Given the description of an element on the screen output the (x, y) to click on. 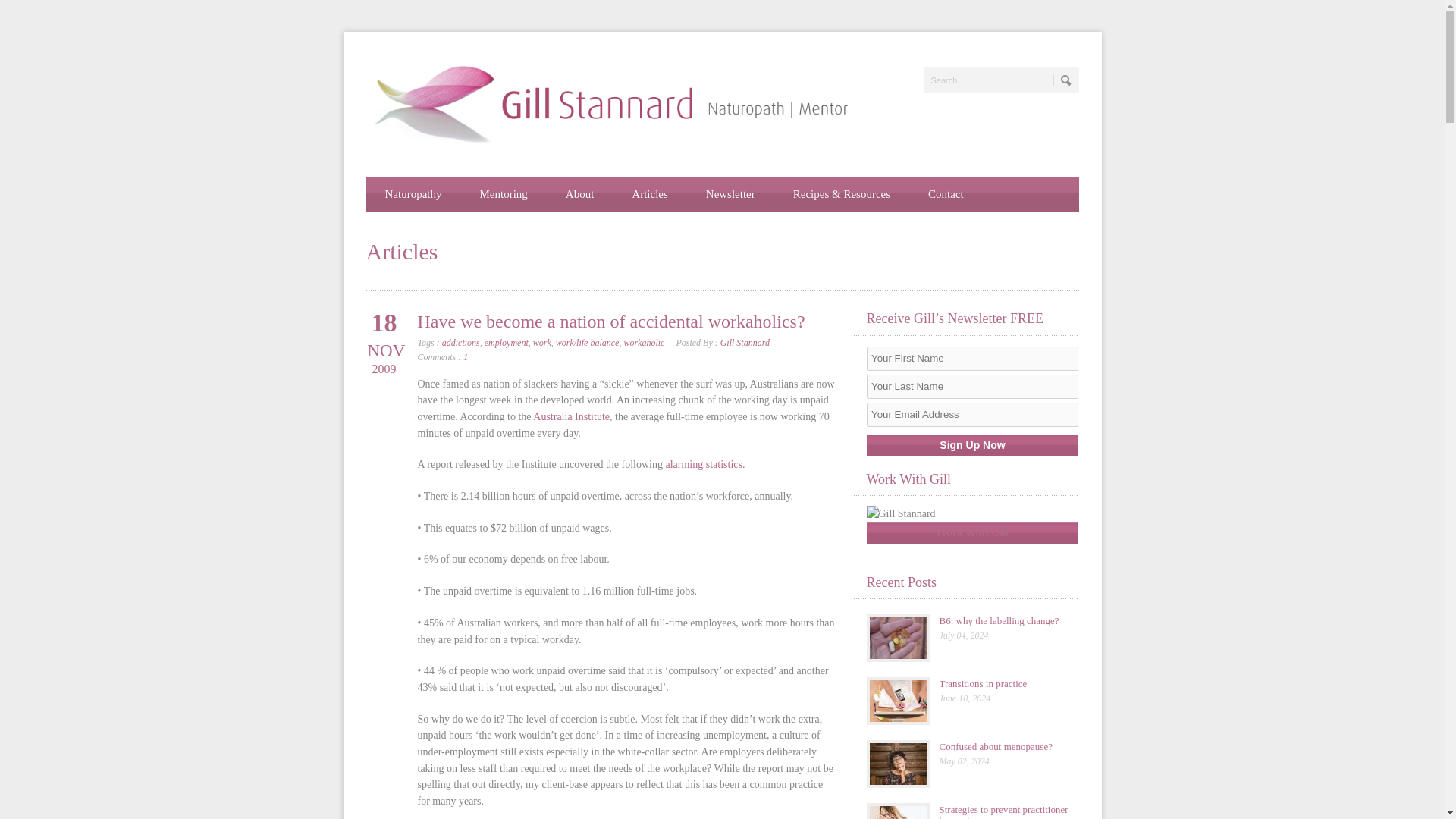
Sign Up Now (972, 444)
work (541, 342)
Australia Institute (571, 416)
About (579, 193)
Naturopathy (412, 193)
Newsletter (730, 193)
employment (506, 342)
alarming statistics (703, 464)
addictions (461, 342)
Contact (945, 193)
Have we become a nation of accidental workaholics? (610, 321)
Gill Stannard (745, 342)
Articles (648, 193)
workaholic (643, 342)
Mentoring (503, 193)
